Given the description of an element on the screen output the (x, y) to click on. 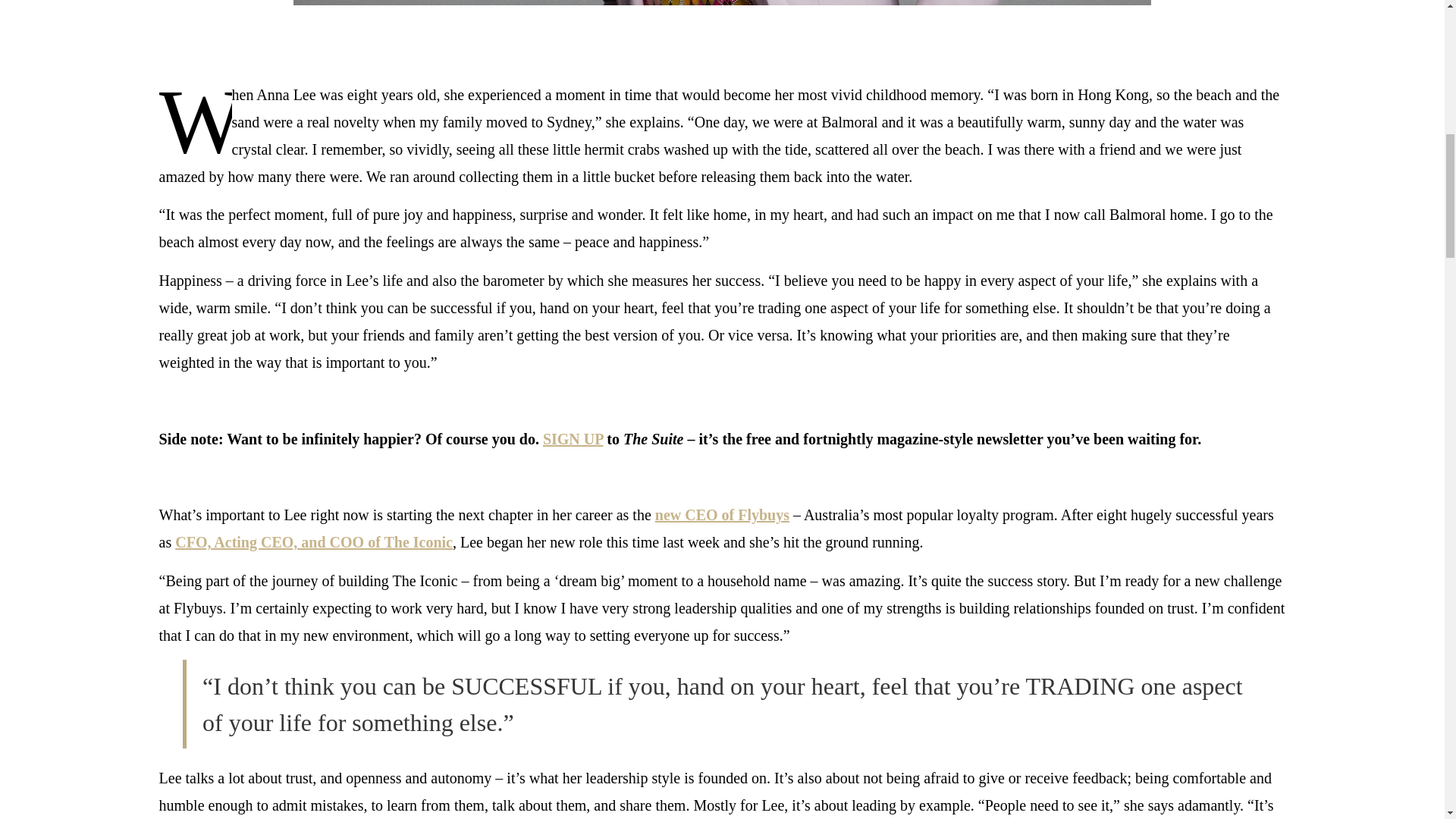
SIGN UP (572, 438)
CFO, Acting CEO, and COO of The Iconic (313, 541)
new CEO of Flybuys (722, 514)
